Given the description of an element on the screen output the (x, y) to click on. 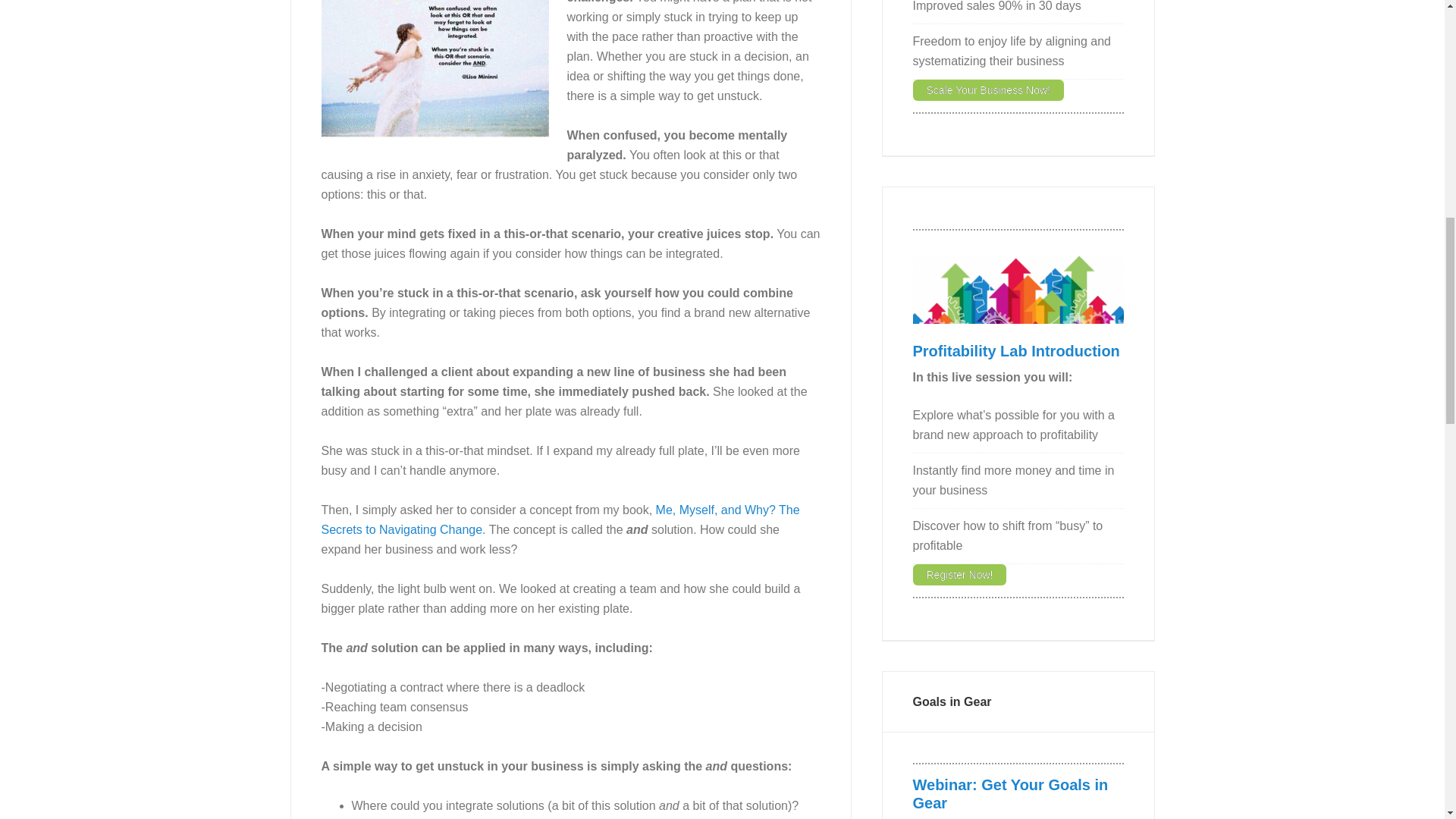
Register for the Profitability Lab Introduction (1015, 351)
